Given the description of an element on the screen output the (x, y) to click on. 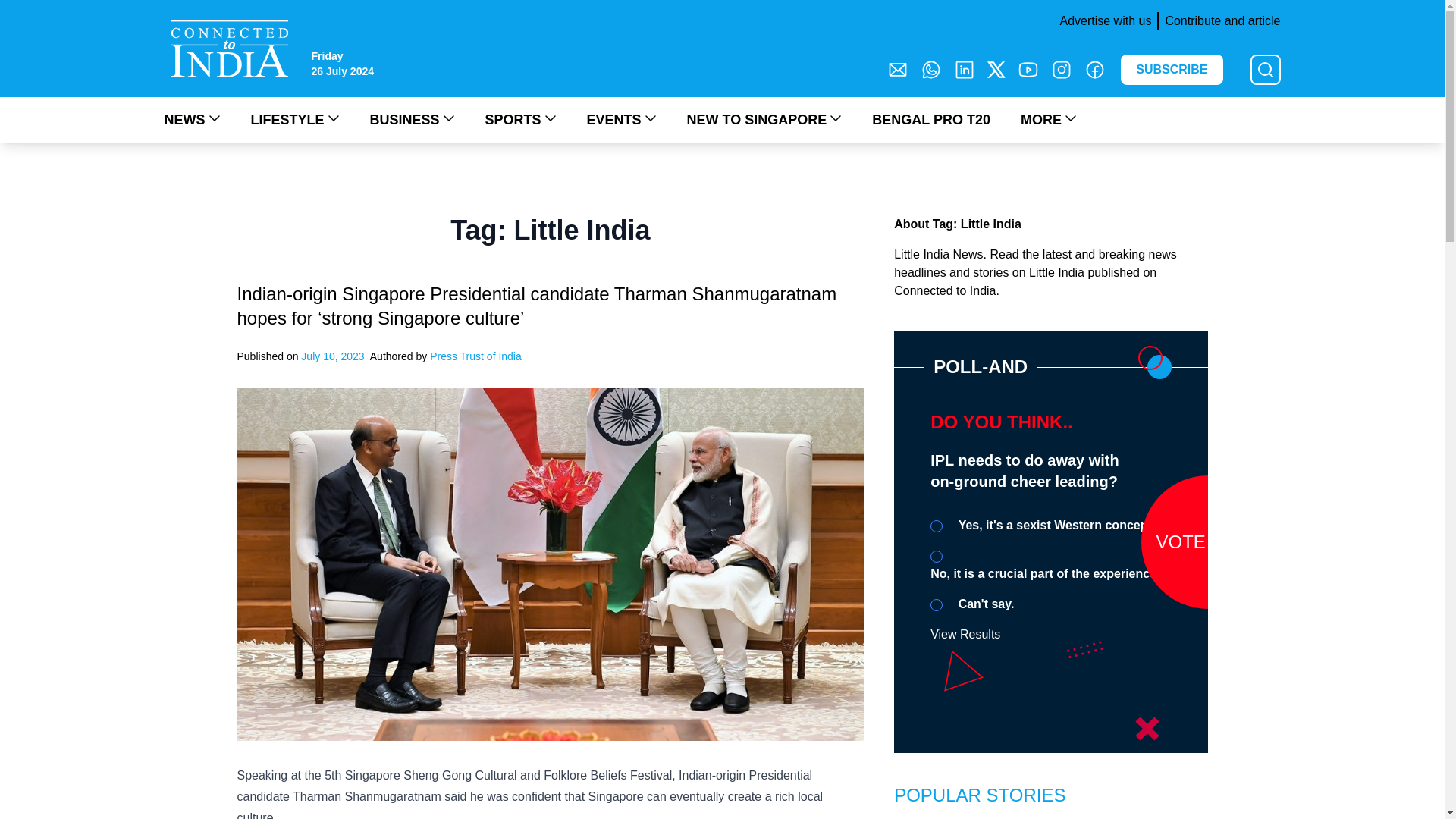
Email us (897, 69)
NEW TO SINGAPORE (765, 119)
LinkedIn (964, 69)
View Results Of This Poll (965, 634)
Search (19, 9)
Advertise with us (1101, 21)
Youtube (1028, 69)
SUBSCRIBE (1172, 69)
SPORTS (520, 119)
EVENTS (621, 119)
LIFESTYLE (294, 119)
   Vote    (1207, 541)
Facebook (1094, 69)
40 (936, 556)
Contribute and article (1218, 21)
